Given the description of an element on the screen output the (x, y) to click on. 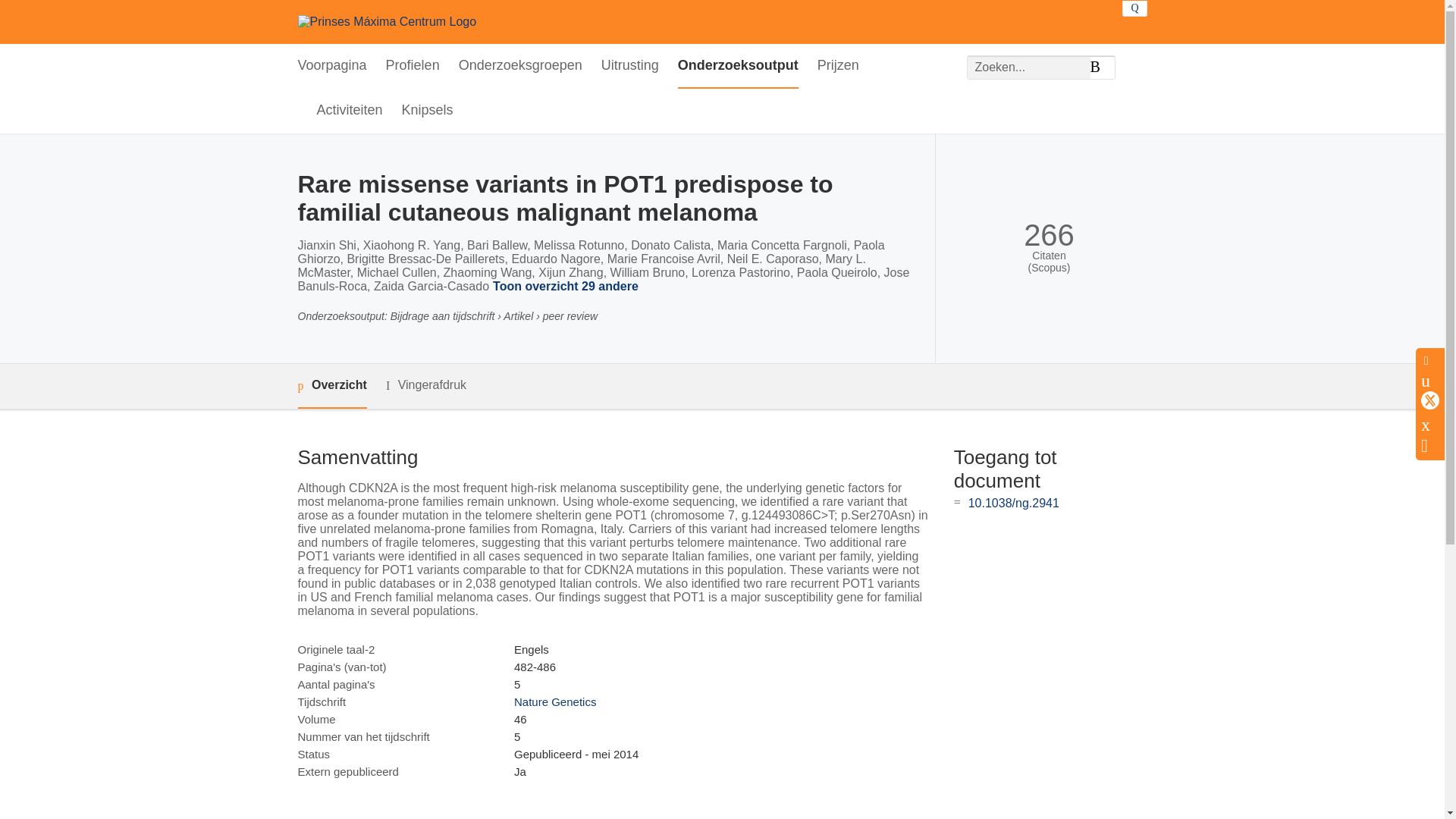
Nature Genetics (554, 701)
Onderzoeksoutput (737, 66)
Vingerafdruk (425, 385)
Voorpagina (331, 66)
Uitrusting (630, 66)
Overzicht (331, 385)
Profielen (412, 66)
Onderzoeksgroepen (520, 66)
Prijzen (837, 66)
